Given the description of an element on the screen output the (x, y) to click on. 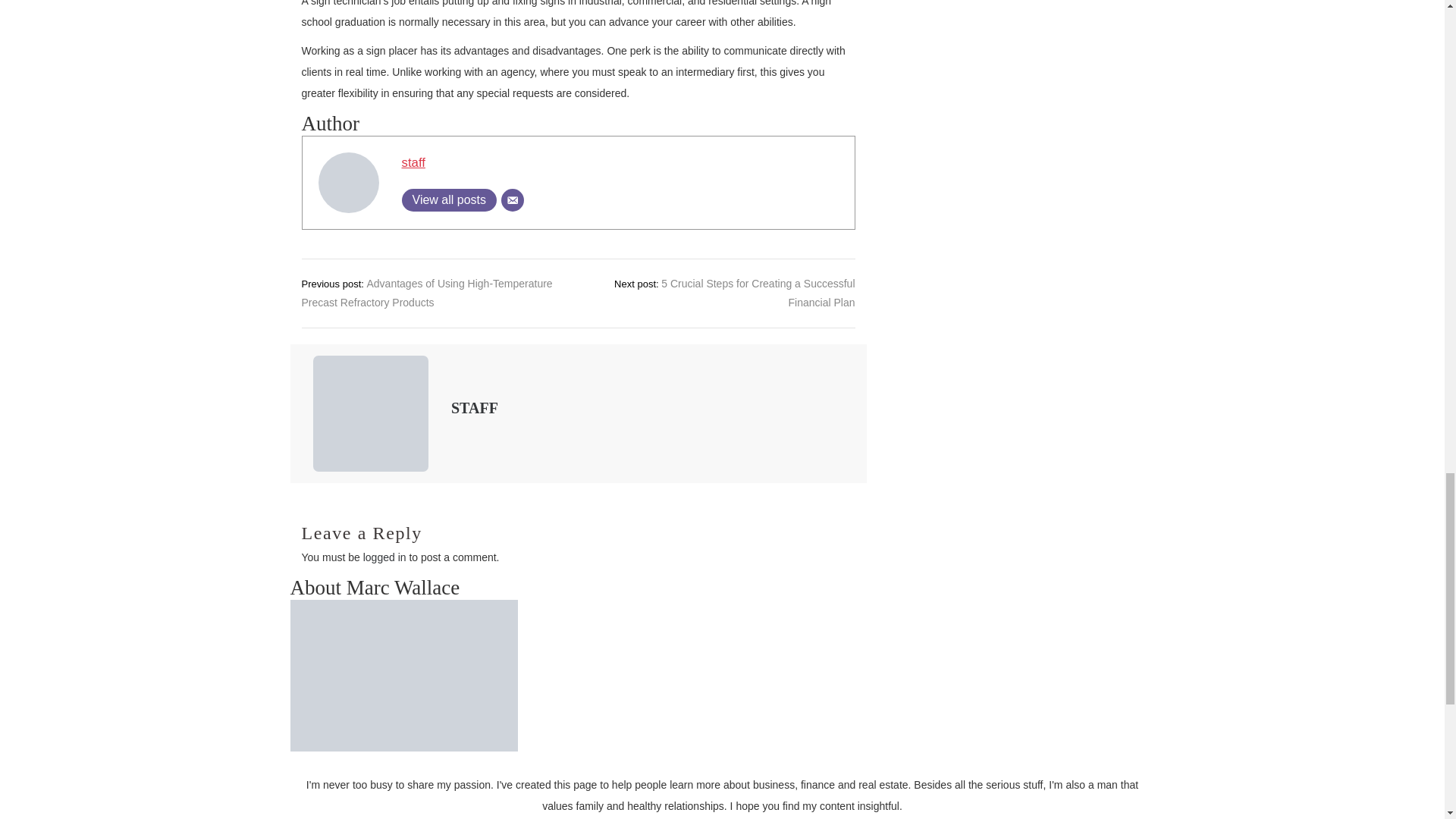
staff (413, 162)
View all posts (449, 200)
logged in (384, 557)
staff (413, 162)
STAFF (474, 407)
View all posts (449, 200)
